Given the description of an element on the screen output the (x, y) to click on. 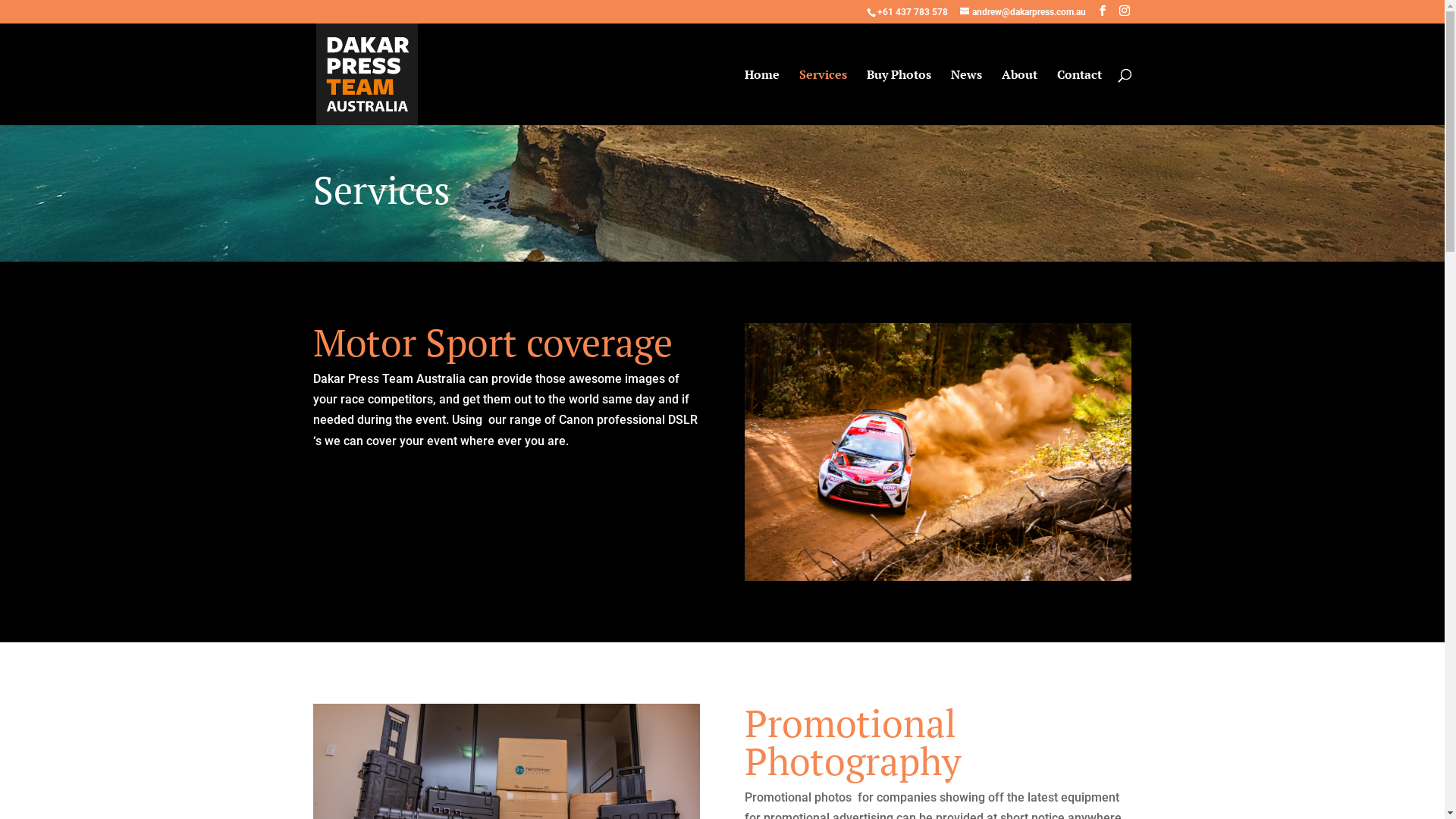
Buy Photos Element type: text (898, 97)
andrew@dakarpress.com.au Element type: text (1022, 11)
Contact Element type: text (1079, 97)
News Element type: text (966, 97)
AEDX8714 Element type: hover (937, 451)
Services Element type: text (823, 97)
Home Element type: text (761, 97)
About Element type: text (1018, 97)
